Given the description of an element on the screen output the (x, y) to click on. 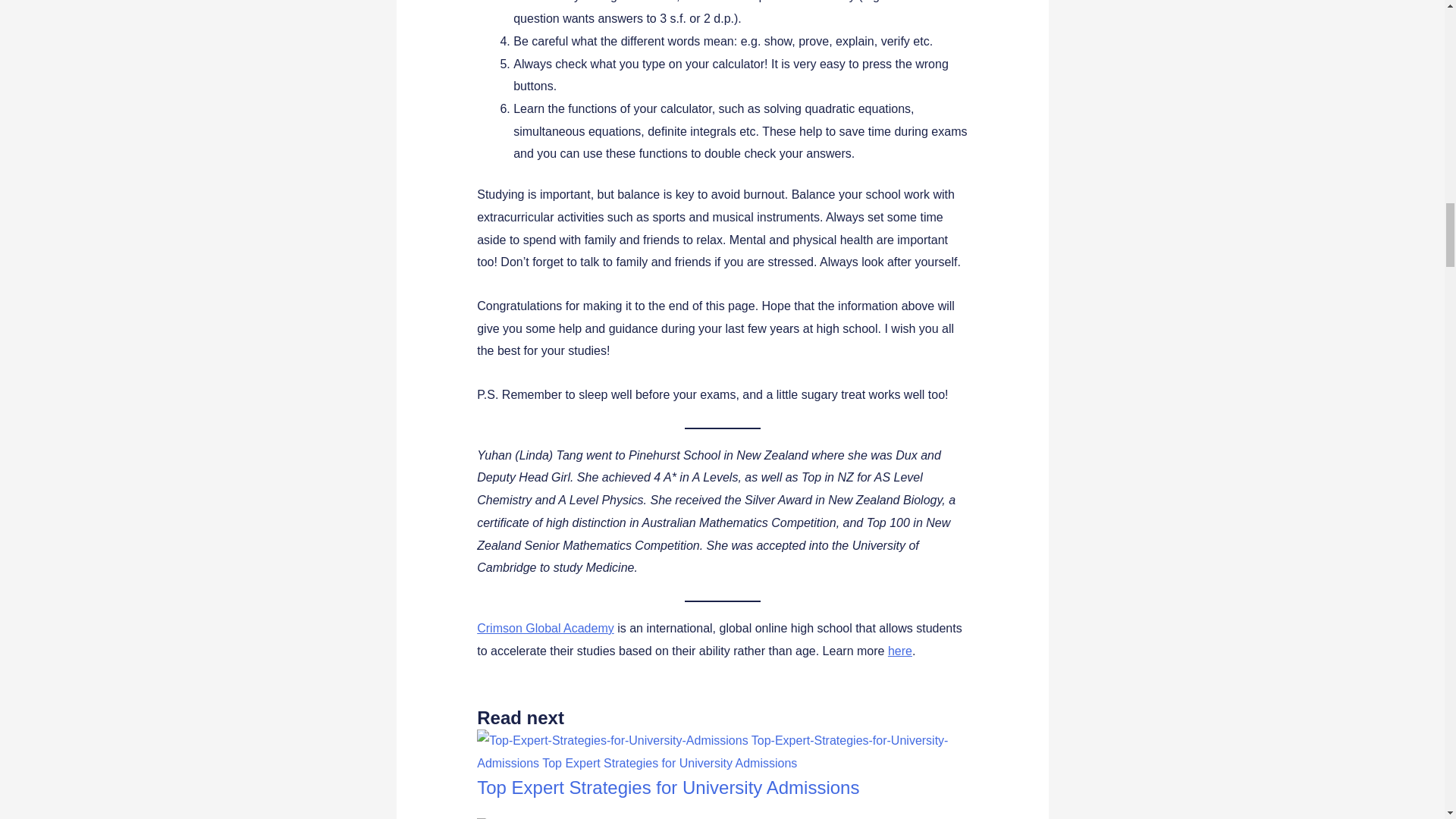
Top Expert Strategies for University Admissions (668, 787)
here (900, 650)
Crimson Global Academy (545, 627)
